Given the description of an element on the screen output the (x, y) to click on. 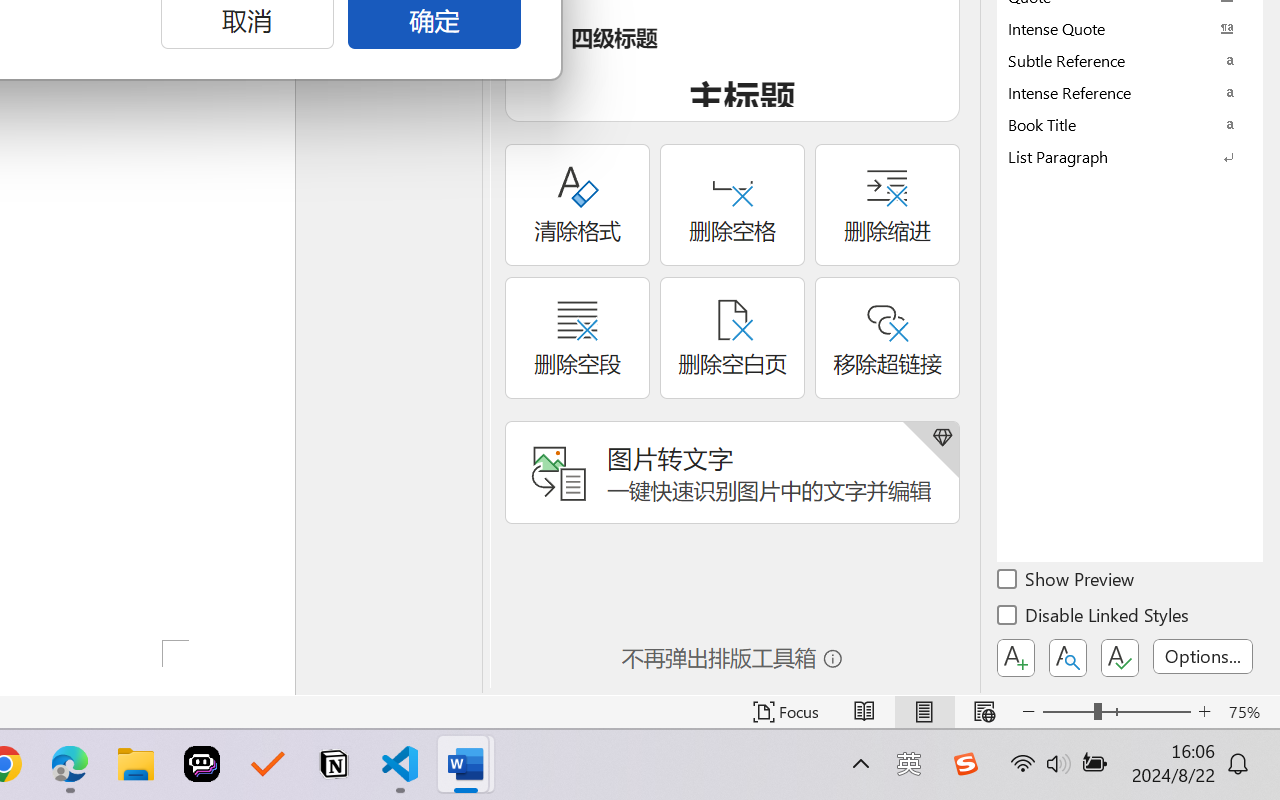
Web Layout (984, 712)
Intense Quote (1130, 28)
Print Layout (924, 712)
Class: NetUIButton (1119, 657)
Options... (1203, 656)
